Given the description of an element on the screen output the (x, y) to click on. 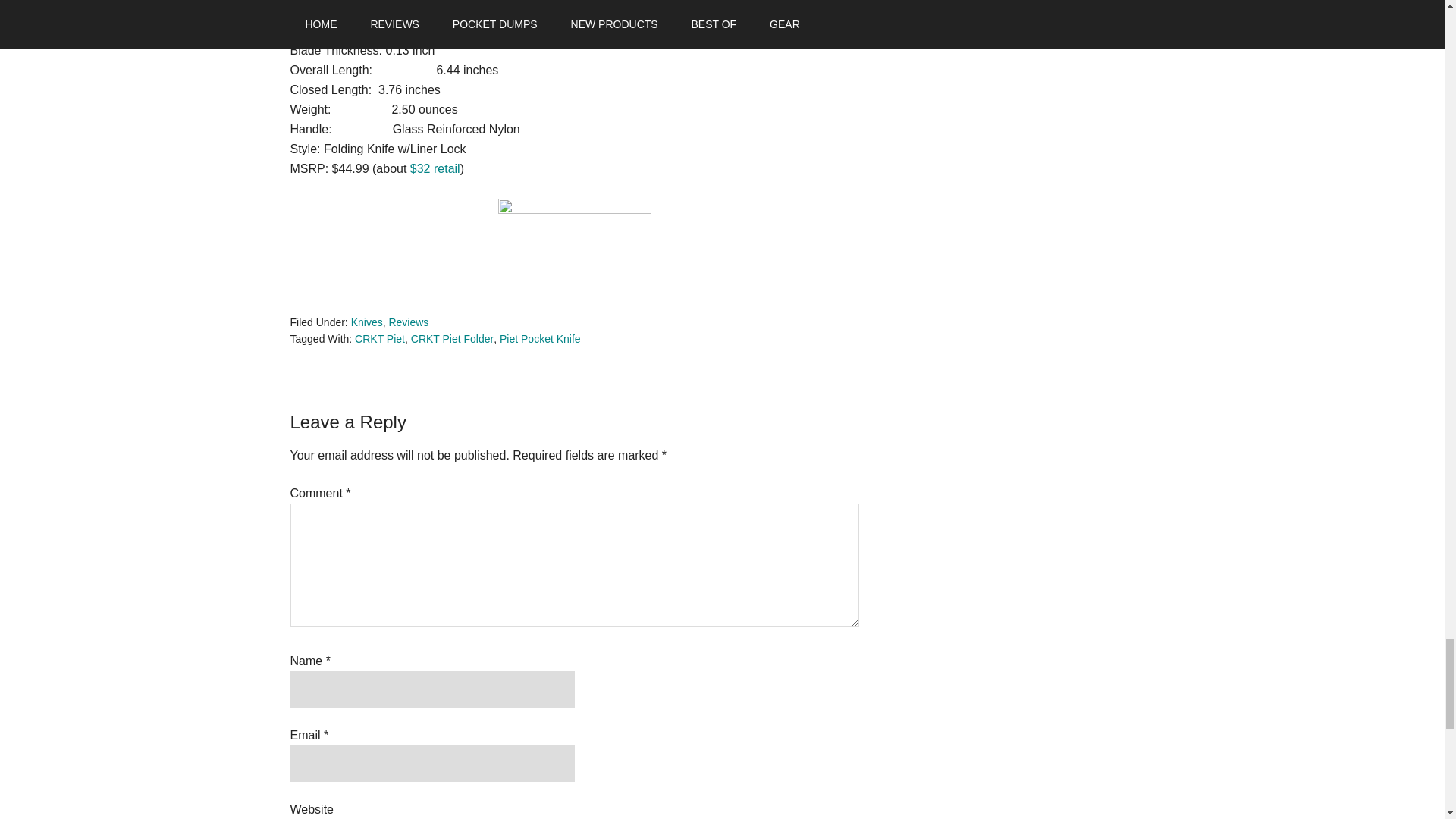
Reviews (408, 322)
CRKT Piet Folder (451, 338)
Knives (366, 322)
Piet Pocket Knife (539, 338)
CRKT Piet (379, 338)
